Given the description of an element on the screen output the (x, y) to click on. 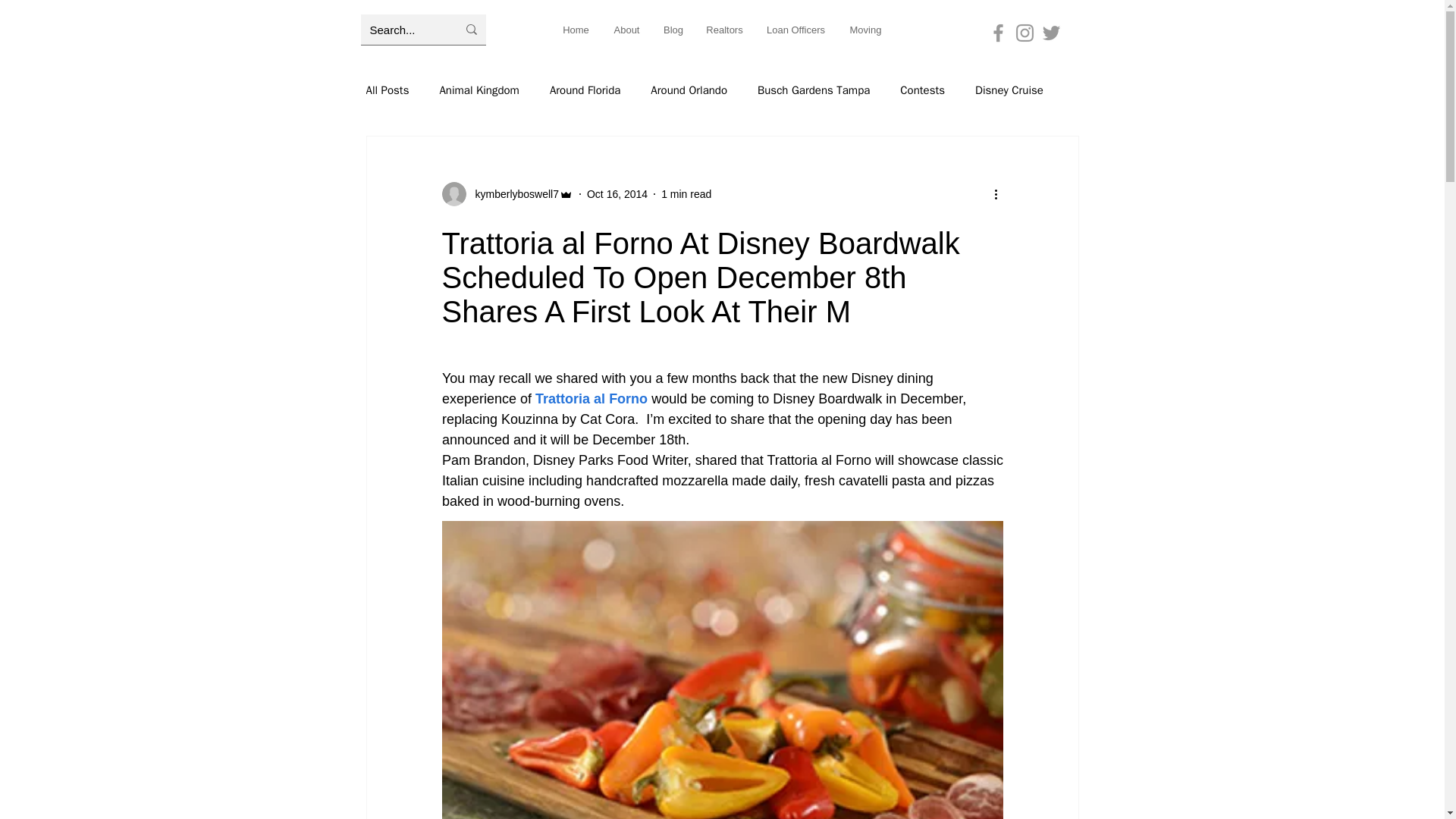
Around Florida (585, 90)
Disney Cruise (1009, 90)
Moving (865, 29)
Home (575, 29)
Blog (673, 29)
Realtors (724, 29)
1 min read (686, 193)
kymberlyboswell7 (511, 194)
About (626, 29)
Loan Officers (795, 29)
